Given the description of an element on the screen output the (x, y) to click on. 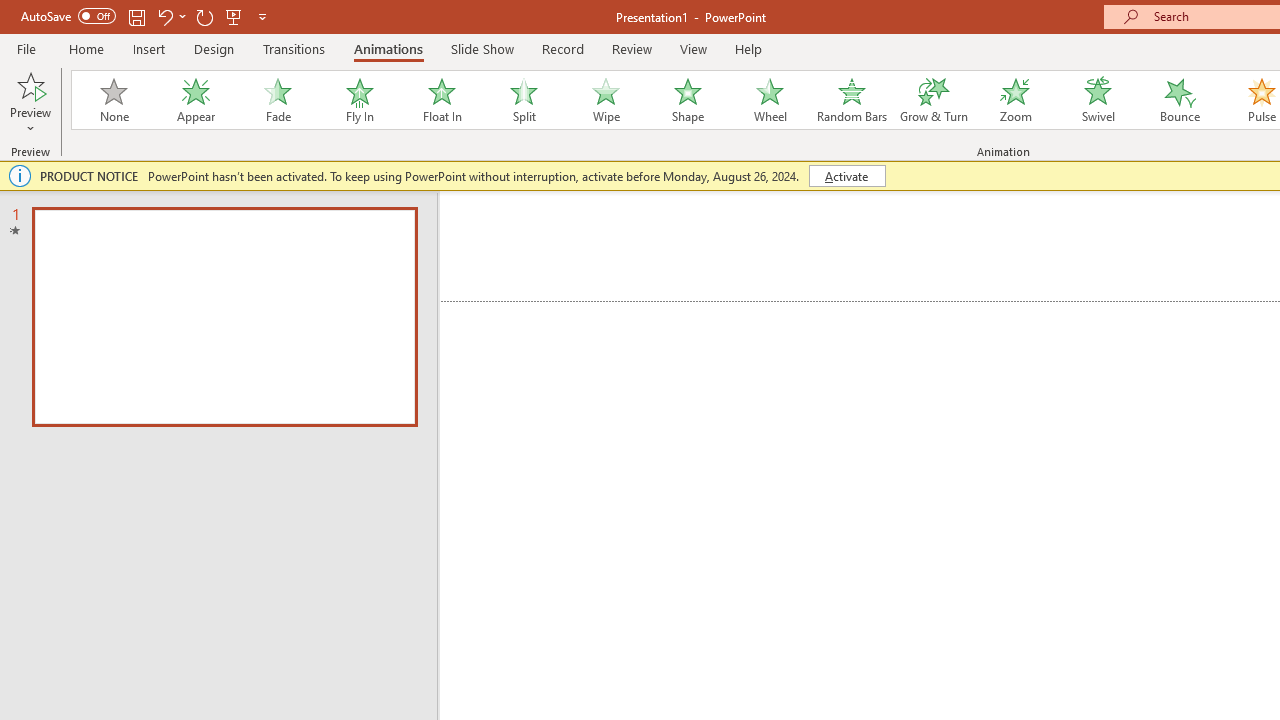
Grow & Turn (934, 100)
Appear (195, 100)
Preview (30, 84)
Shape (687, 100)
Float In (441, 100)
Split (523, 100)
